Given the description of an element on the screen output the (x, y) to click on. 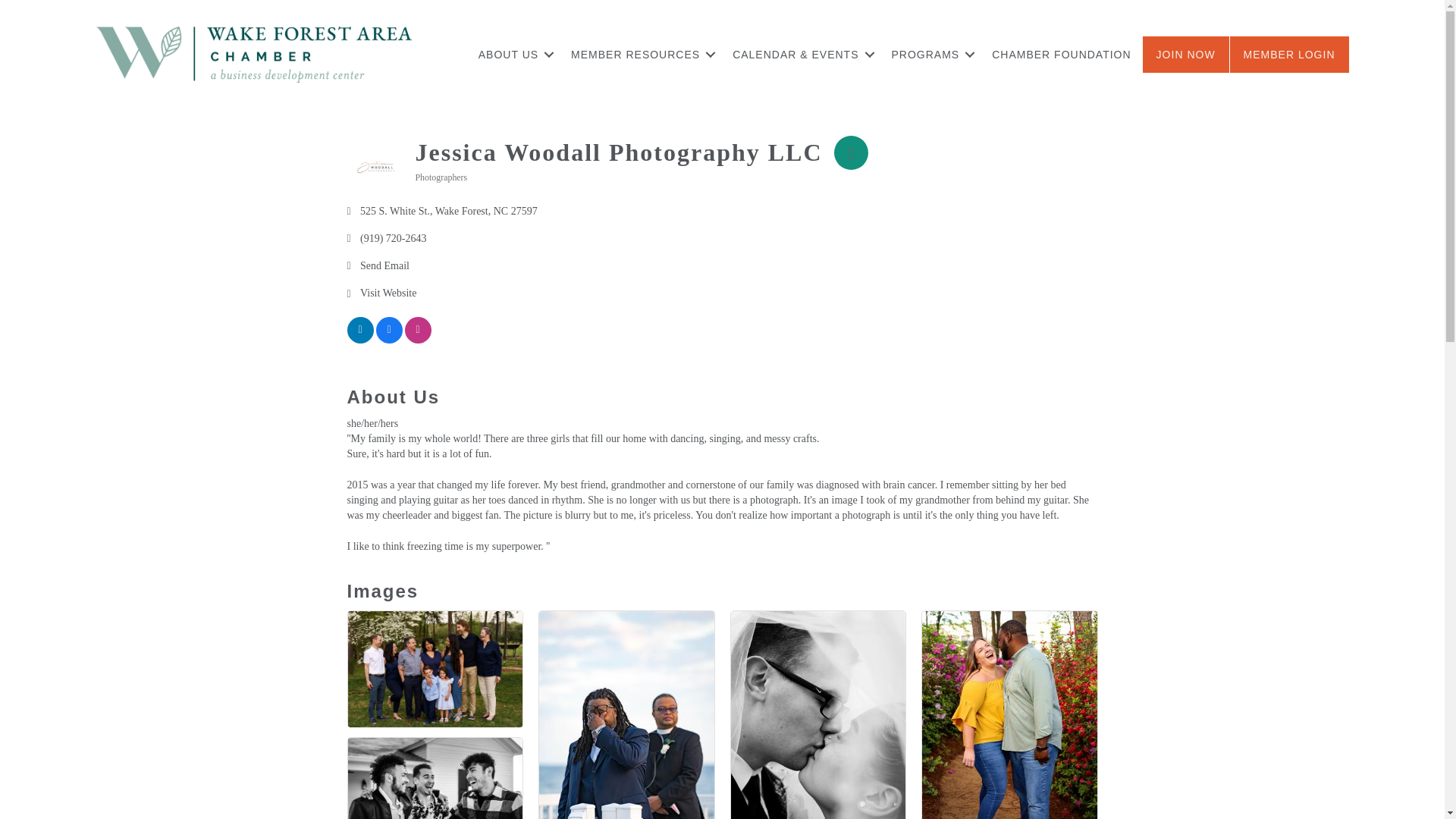
Jessica Woodall Photography LLC (375, 166)
PROGRAMS (930, 54)
CHAMBER FOUNDATION (1061, 54)
JOIN NOW (1185, 54)
ABOUT US (513, 54)
View on Facebook (389, 339)
MEMBER RESOURCES (640, 54)
Visit Website (387, 293)
MEMBER LOGIN (1289, 54)
View on Instagram (417, 339)
